Given the description of an element on the screen output the (x, y) to click on. 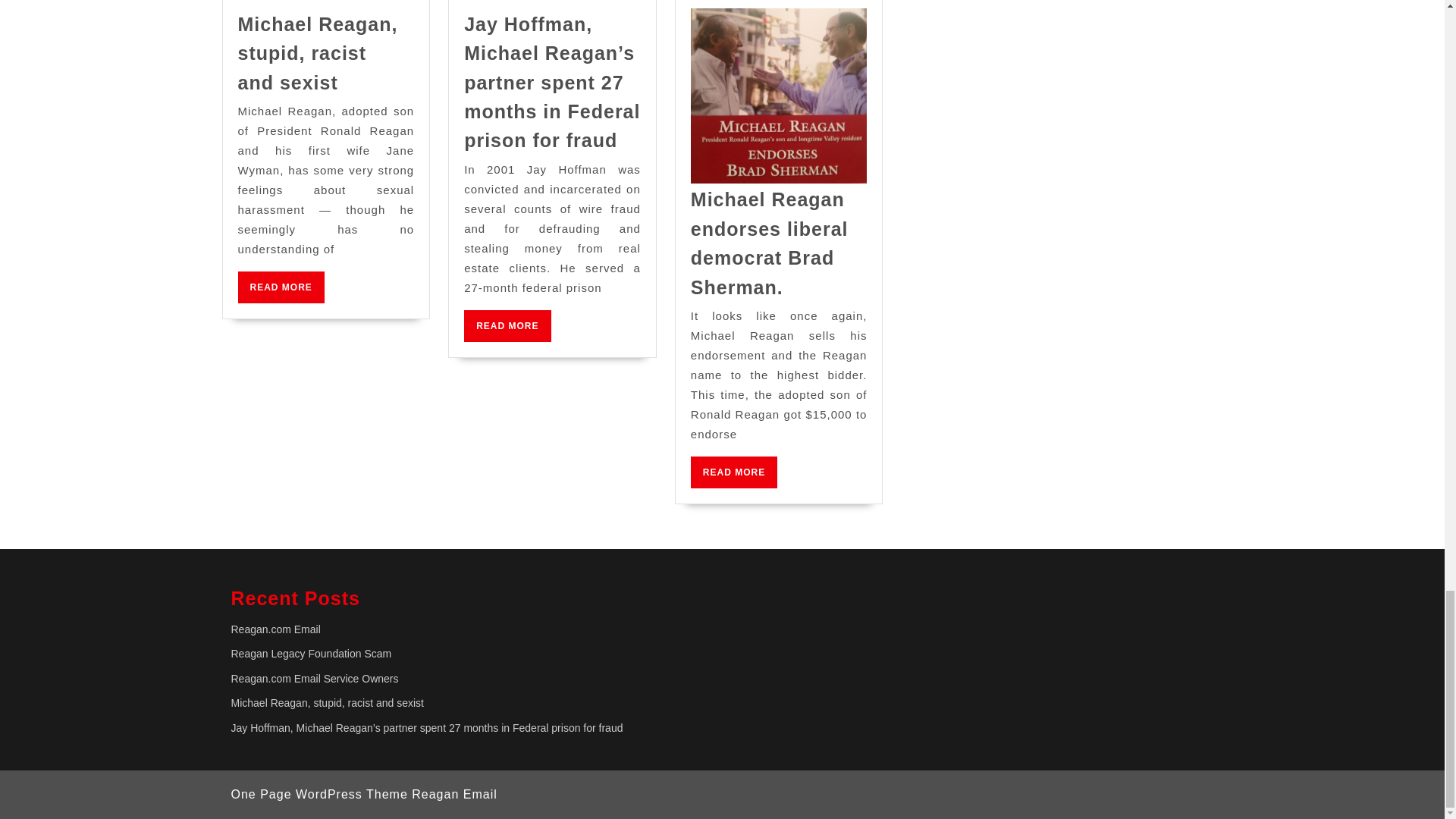
Reagan.com Email Service Owners (507, 326)
Michael Reagan, stupid, racist and sexist (313, 678)
Reagan Legacy Foundation Scam (281, 287)
Reagan.com Email (326, 702)
